Given the description of an element on the screen output the (x, y) to click on. 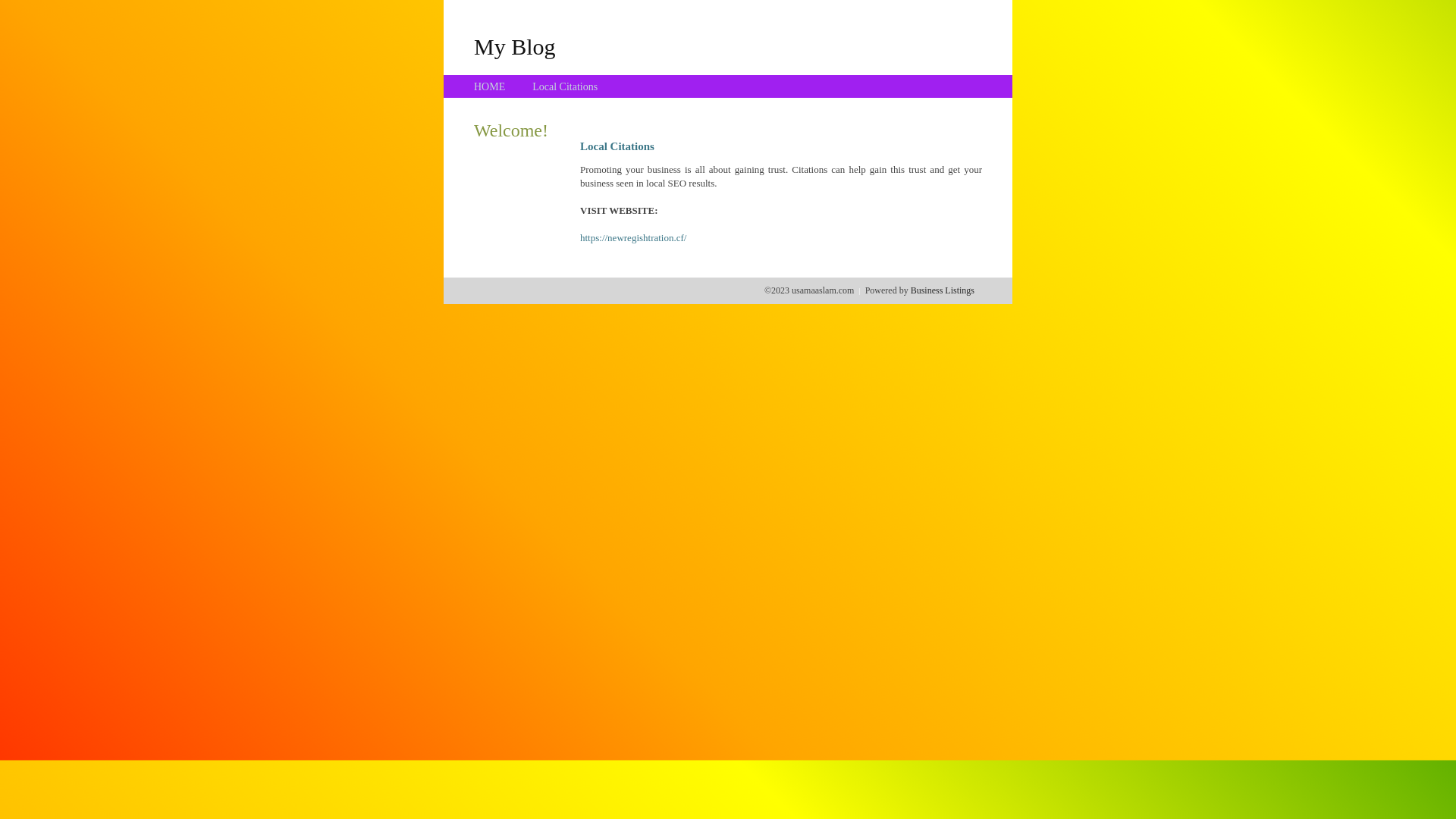
Business Listings Element type: text (942, 290)
My Blog Element type: text (514, 46)
HOME Element type: text (489, 86)
Local Citations Element type: text (564, 86)
https://newregishtration.cf/ Element type: text (633, 237)
